Given the description of an element on the screen output the (x, y) to click on. 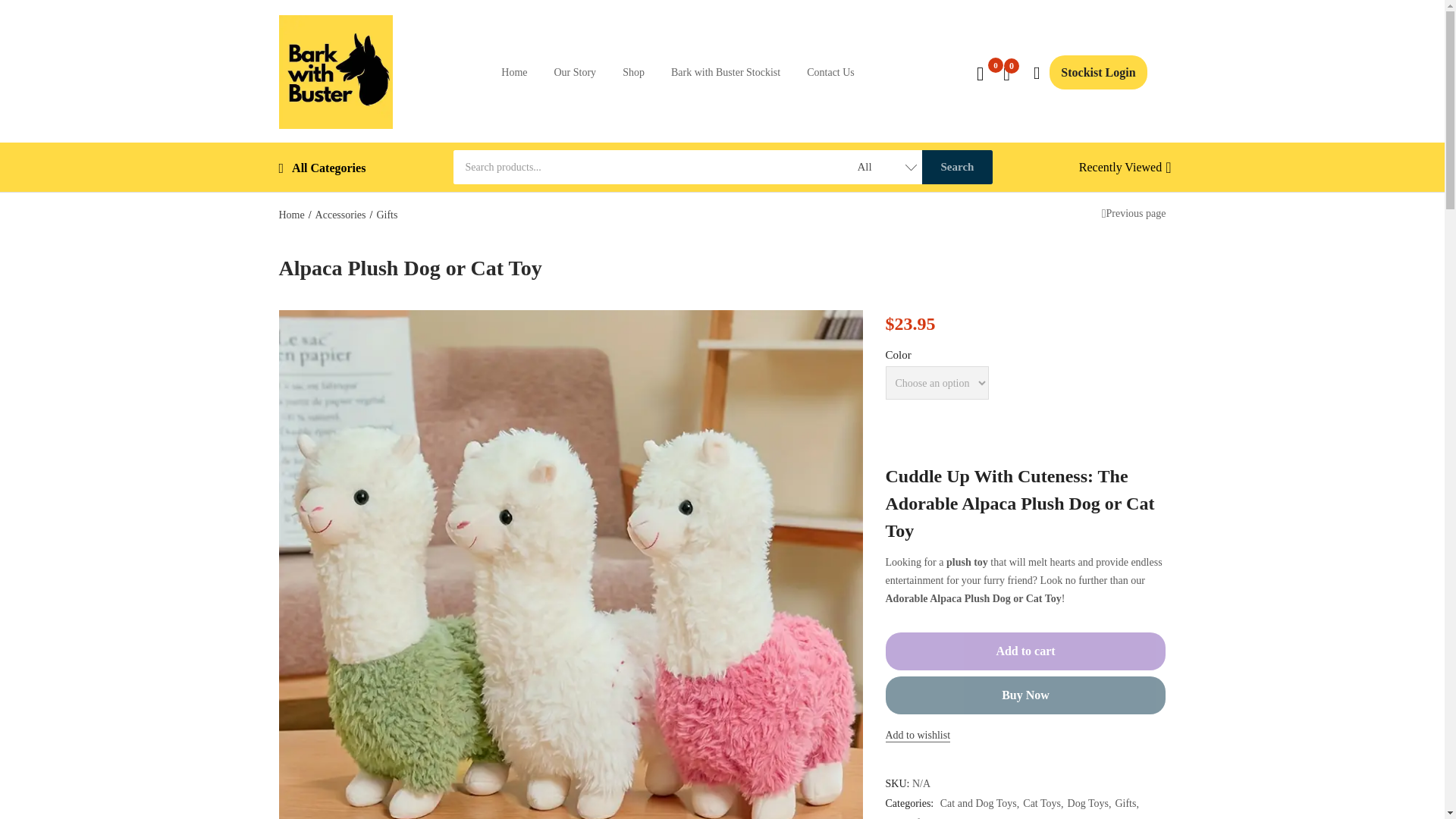
Bark with Buster Stockist (725, 72)
Wishlist (917, 735)
All Categories (322, 166)
Our Story (574, 72)
Contact Us (830, 72)
Stockist Login (1098, 72)
